Given the description of an element on the screen output the (x, y) to click on. 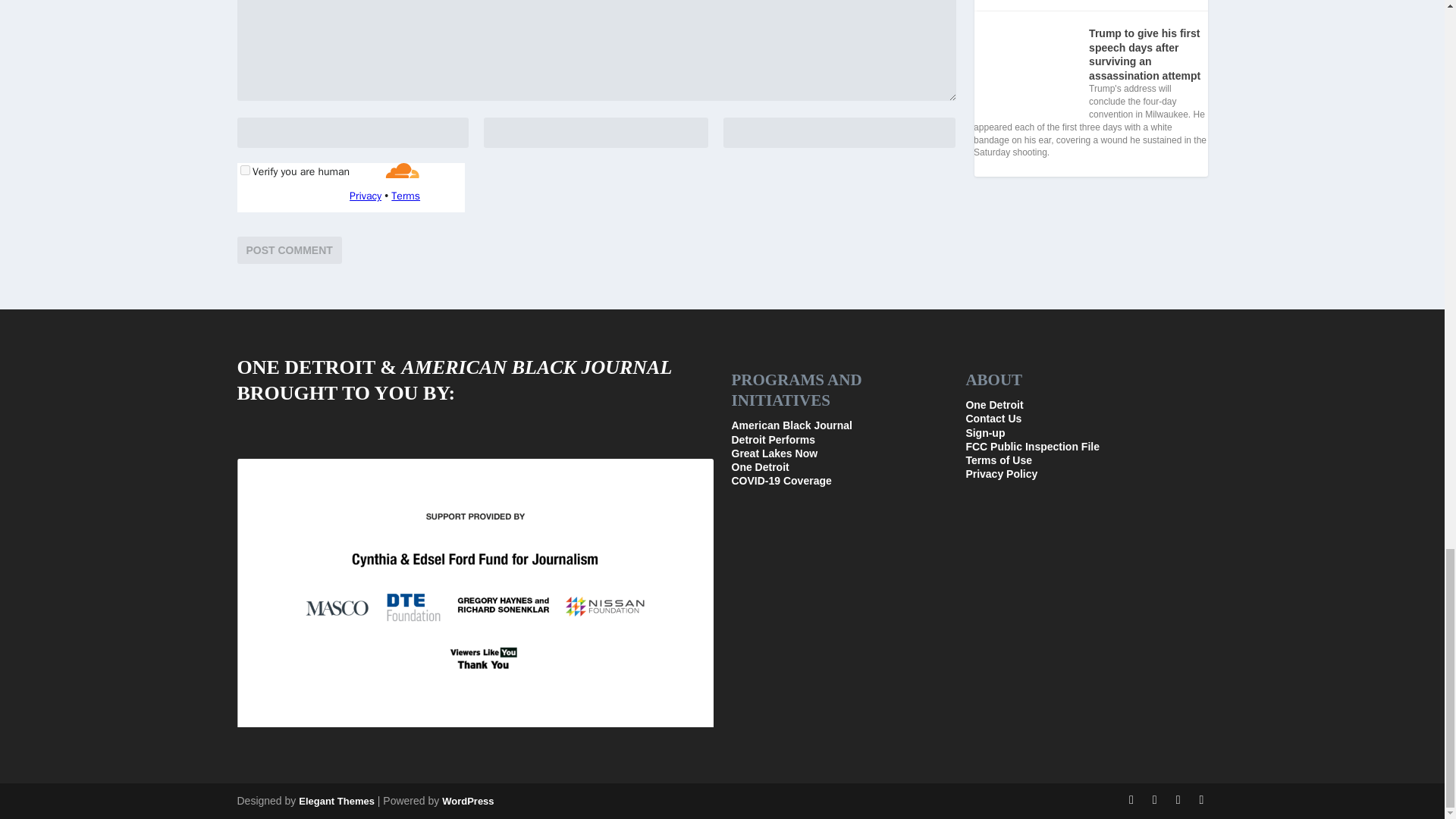
Post Comment (287, 249)
